Given the description of an element on the screen output the (x, y) to click on. 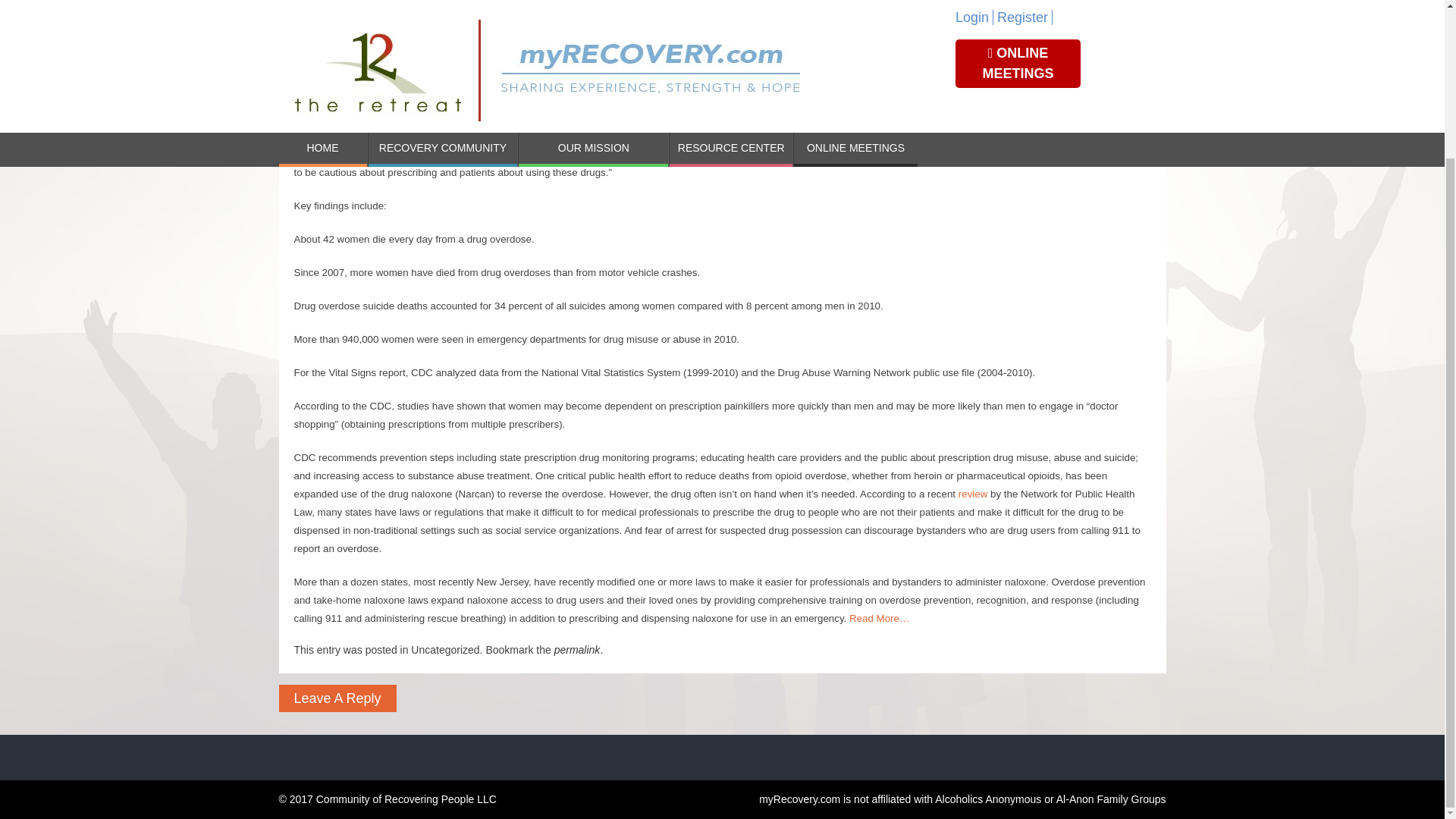
permalink (576, 649)
Leave A Reply (337, 697)
Vital Signs (383, 102)
review (973, 493)
